Given the description of an element on the screen output the (x, y) to click on. 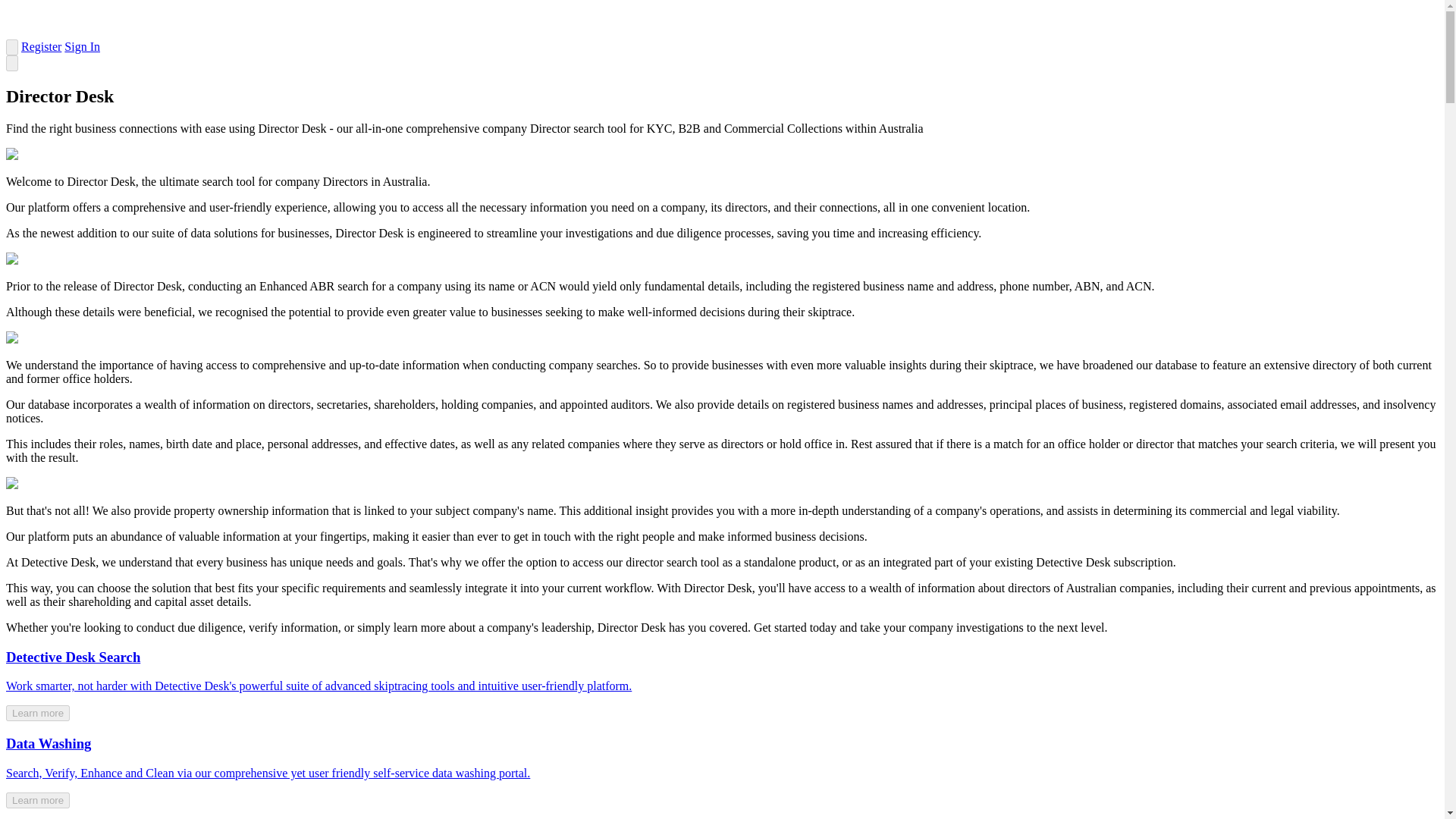
Learn more (37, 713)
Register (41, 46)
Sign In (82, 46)
Sign In (82, 46)
Register (41, 46)
Learn more (37, 800)
Detective Desk (95, 31)
